Given the description of an element on the screen output the (x, y) to click on. 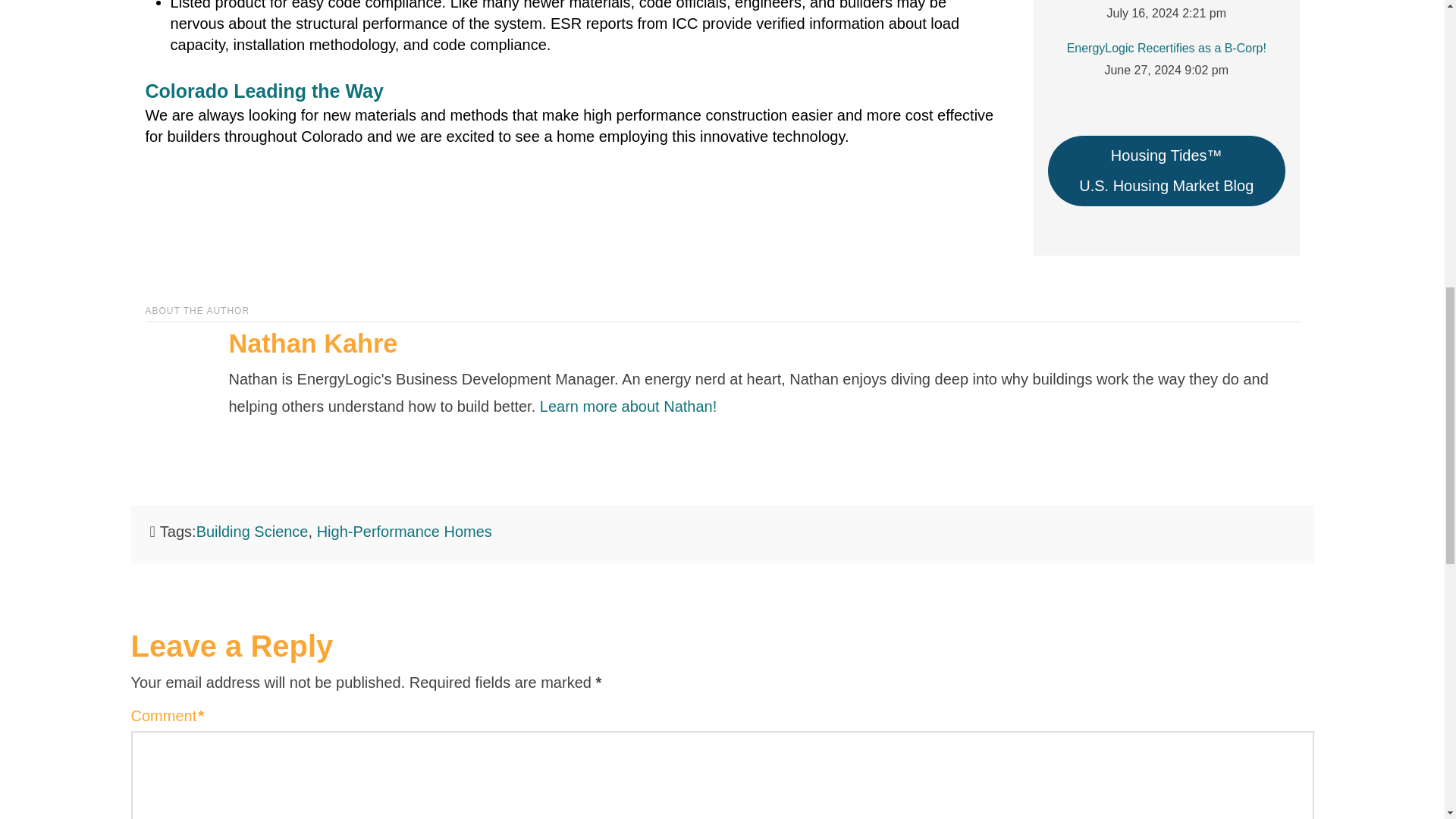
EnergyLogic Recertifies as a B-Corp! (1166, 48)
